Given the description of an element on the screen output the (x, y) to click on. 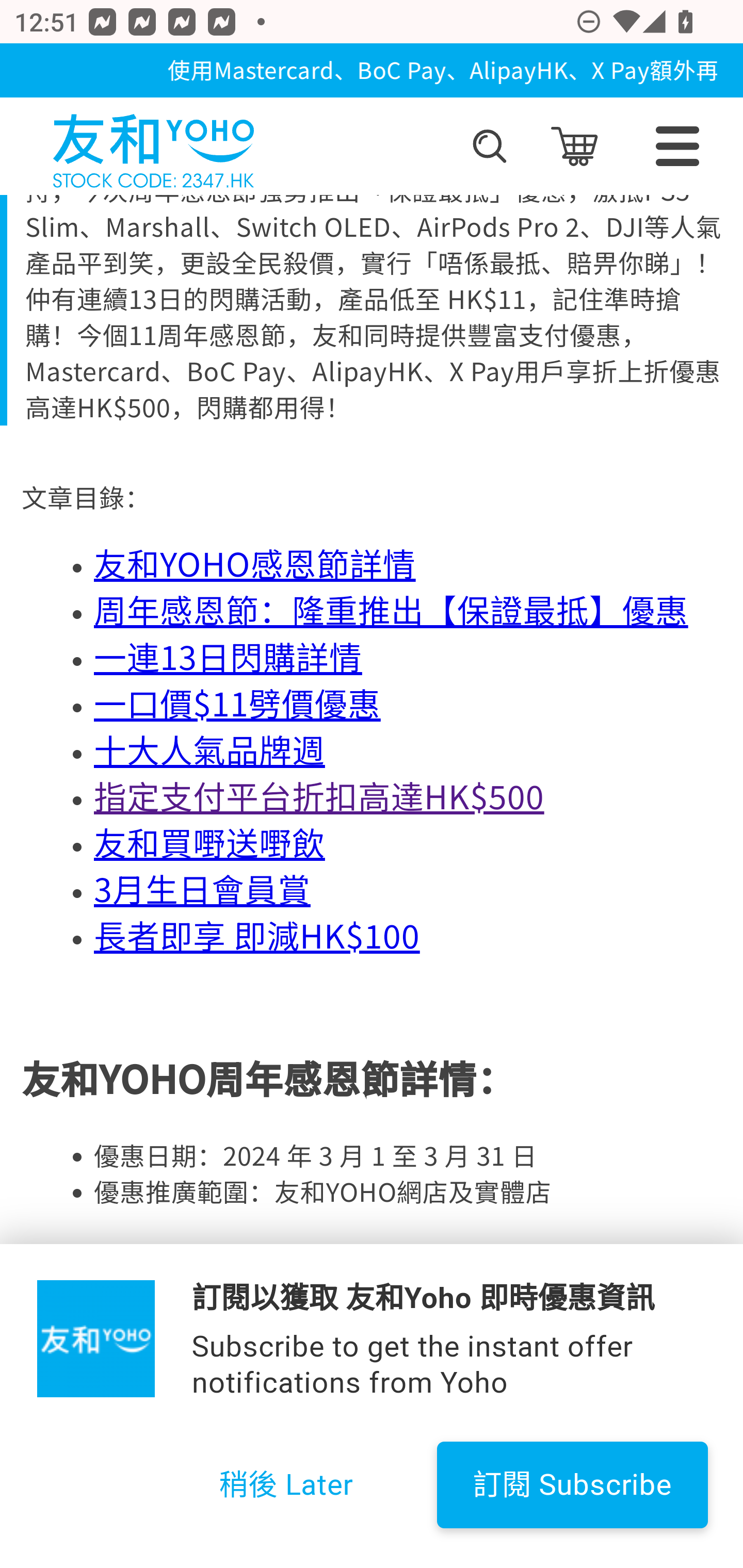
cart (574, 146)
友和 YOHO (153, 146)
友和YOHO感恩節詳情 (254, 564)
周年感恩節：隆重推出【保證最抵】優惠 (391, 610)
一連13日閃購詳情 (227, 657)
一口價$11劈價優惠 (236, 703)
十大人氣品牌週 (209, 750)
指定支付平台折扣高達HK$500 (319, 797)
友和買嘢送嘢飲 (209, 843)
3月生日會員賞 (202, 890)
長者即享 即減HK$100 (256, 936)
